Given the description of an element on the screen output the (x, y) to click on. 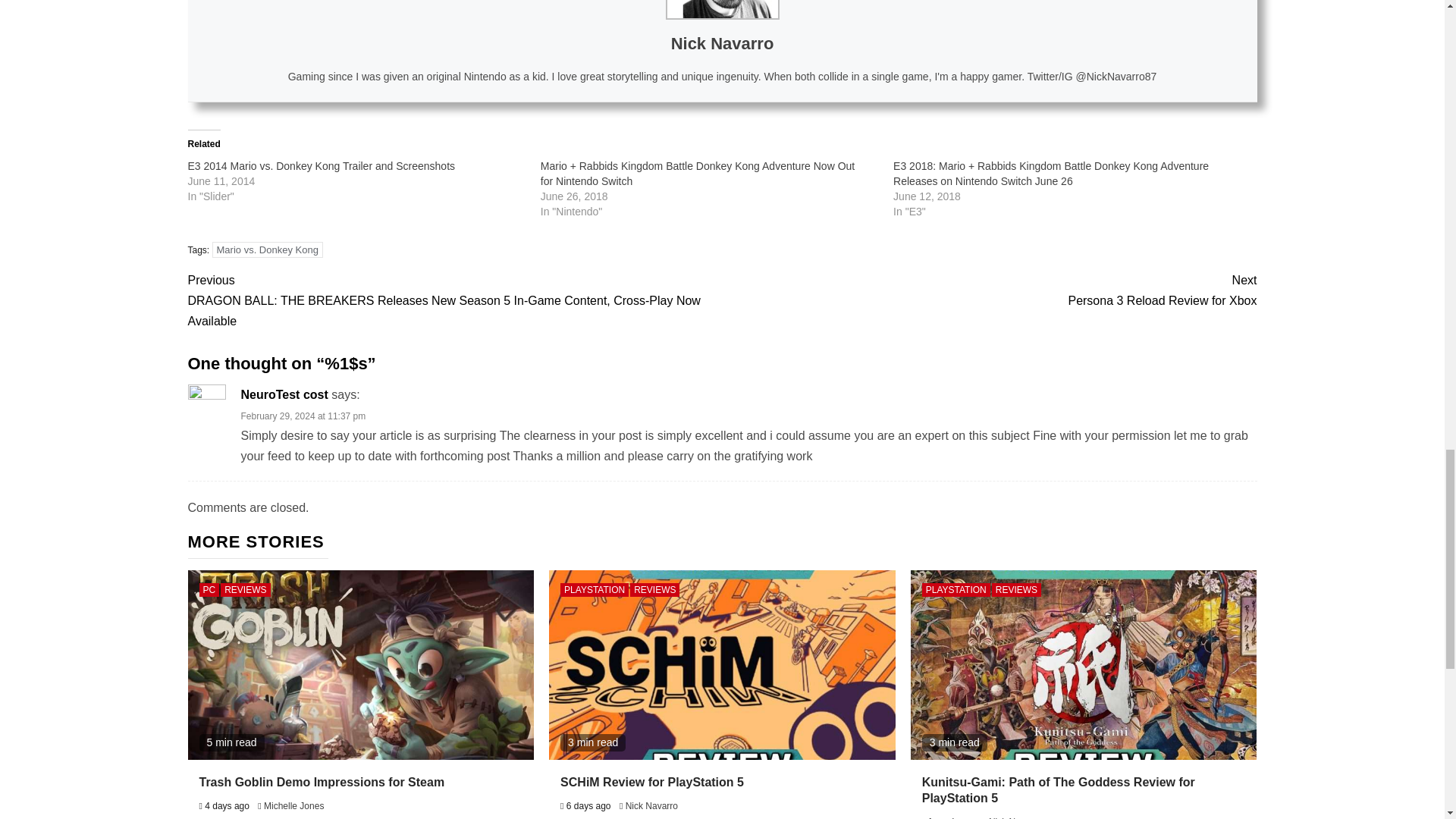
E3 2014 Mario vs. Donkey Kong Trailer and Screenshots (321, 165)
